Given the description of an element on the screen output the (x, y) to click on. 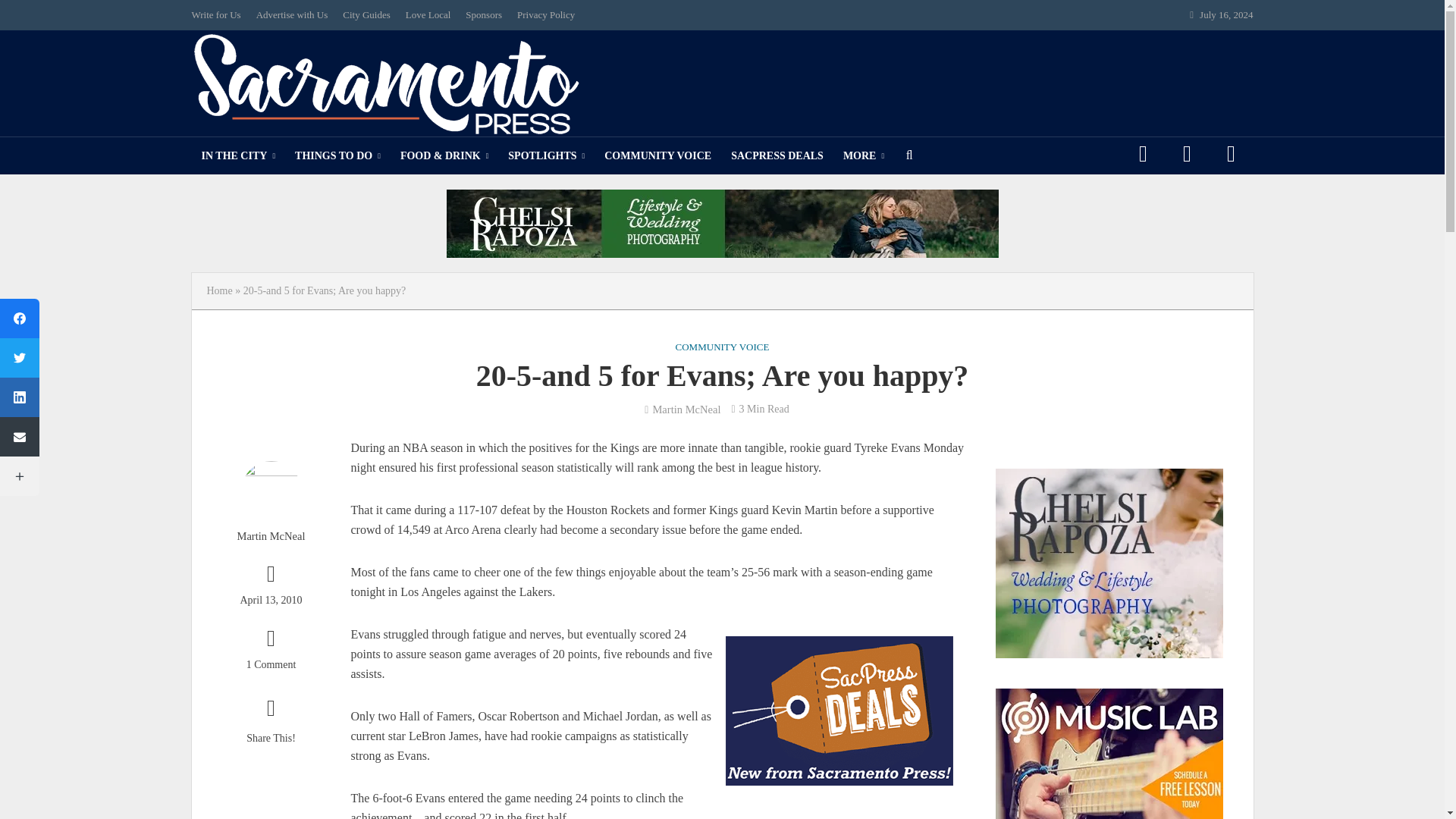
Advertise with Us (292, 15)
SACPRESS DEALS (776, 156)
THINGS TO DO (337, 156)
IN THE CITY (237, 156)
Privacy Policy (545, 15)
MORE (862, 156)
SPOTLIGHTS (545, 156)
Write for Us (218, 15)
COMMUNITY VOICE (657, 156)
City Guides (365, 15)
Sponsors (483, 15)
Love Local (427, 15)
